Given the description of an element on the screen output the (x, y) to click on. 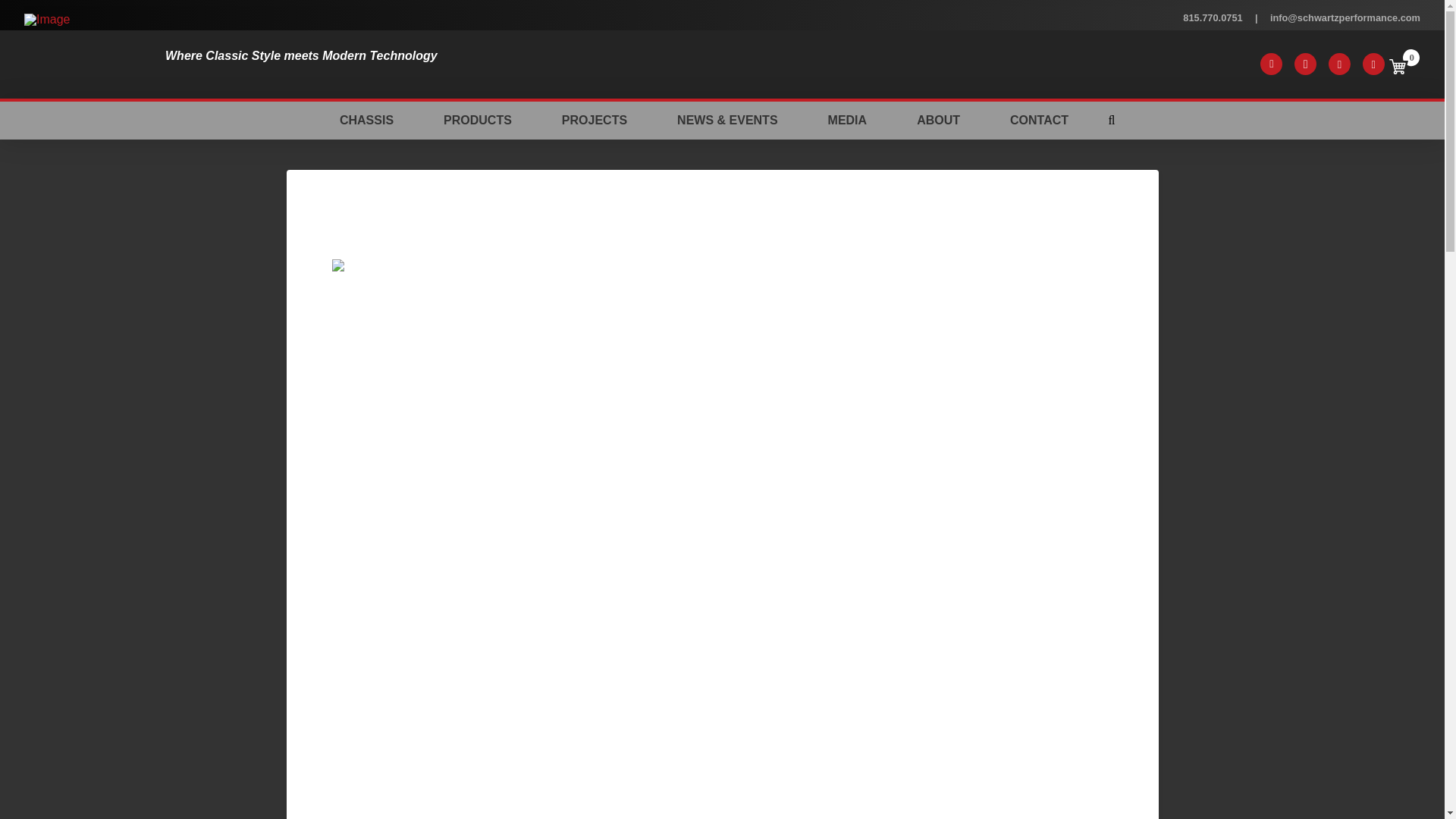
CONTACT (1039, 120)
0 (1404, 64)
MEDIA (847, 120)
CHASSIS (366, 120)
PRODUCTS (477, 120)
PROJECTS (594, 120)
ABOUT (938, 120)
